Given the description of an element on the screen output the (x, y) to click on. 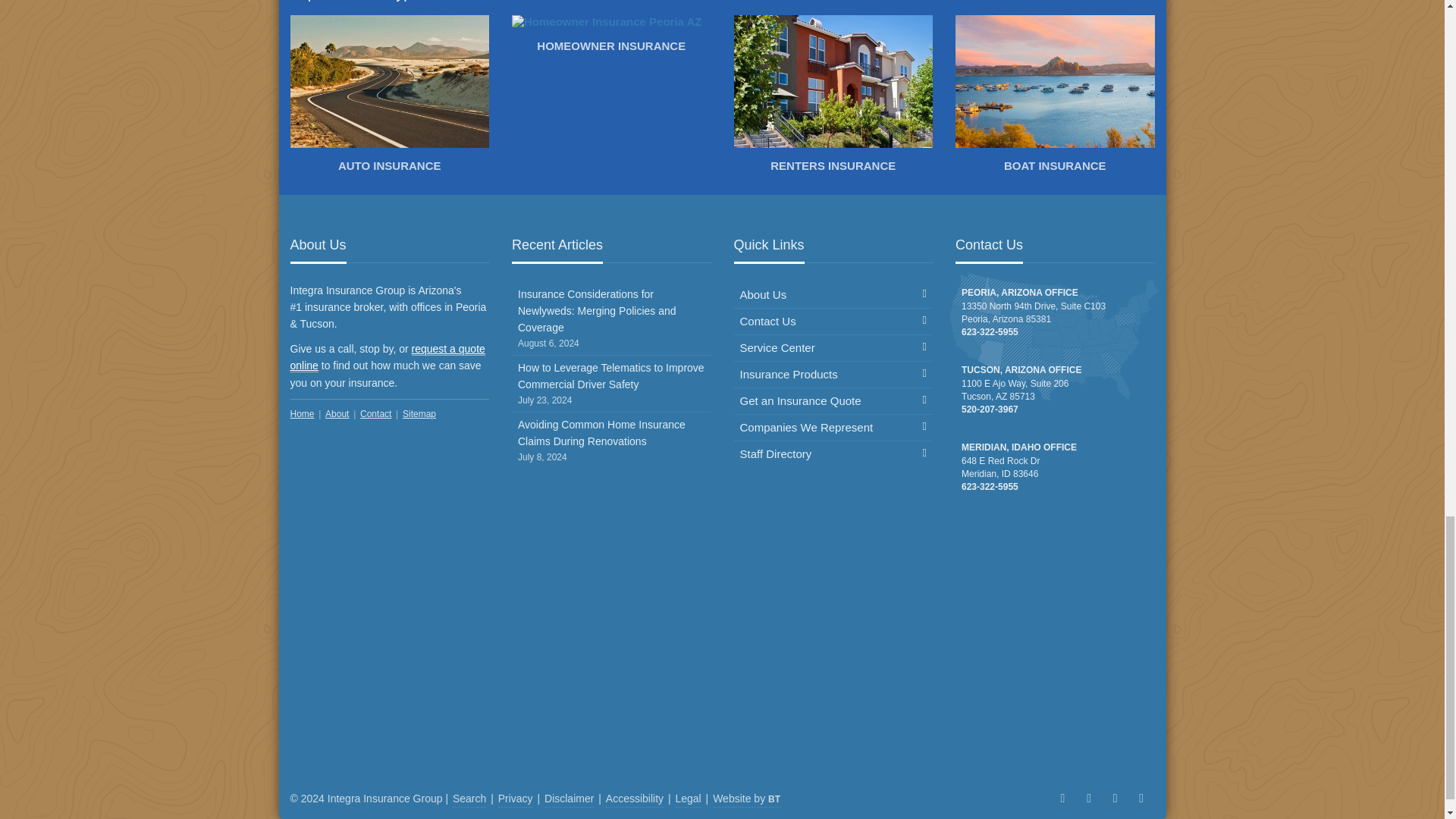
AUTO INSURANCE (389, 97)
Homeowner Insurance Peoria AZ (611, 37)
Auto Insurance Peoria AZ (389, 97)
RENTERS INSURANCE (832, 97)
Renters Insurance Peoria AZ (832, 97)
HOMEOWNER INSURANCE (611, 37)
